Given the description of an element on the screen output the (x, y) to click on. 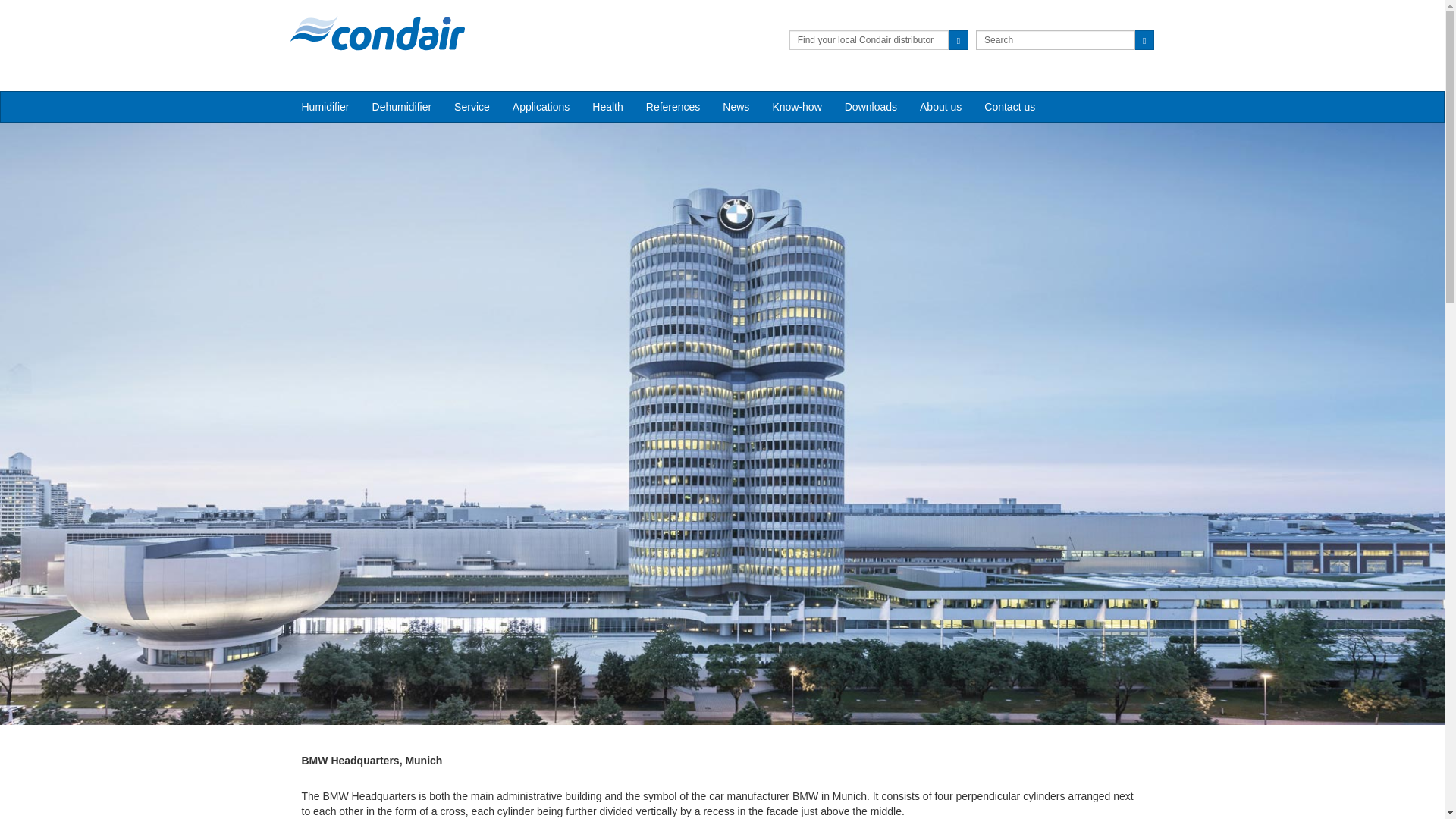
Dehumidifier (402, 106)
Condair (376, 32)
Humidifier (324, 106)
Service (471, 106)
Applications (540, 106)
